Given the description of an element on the screen output the (x, y) to click on. 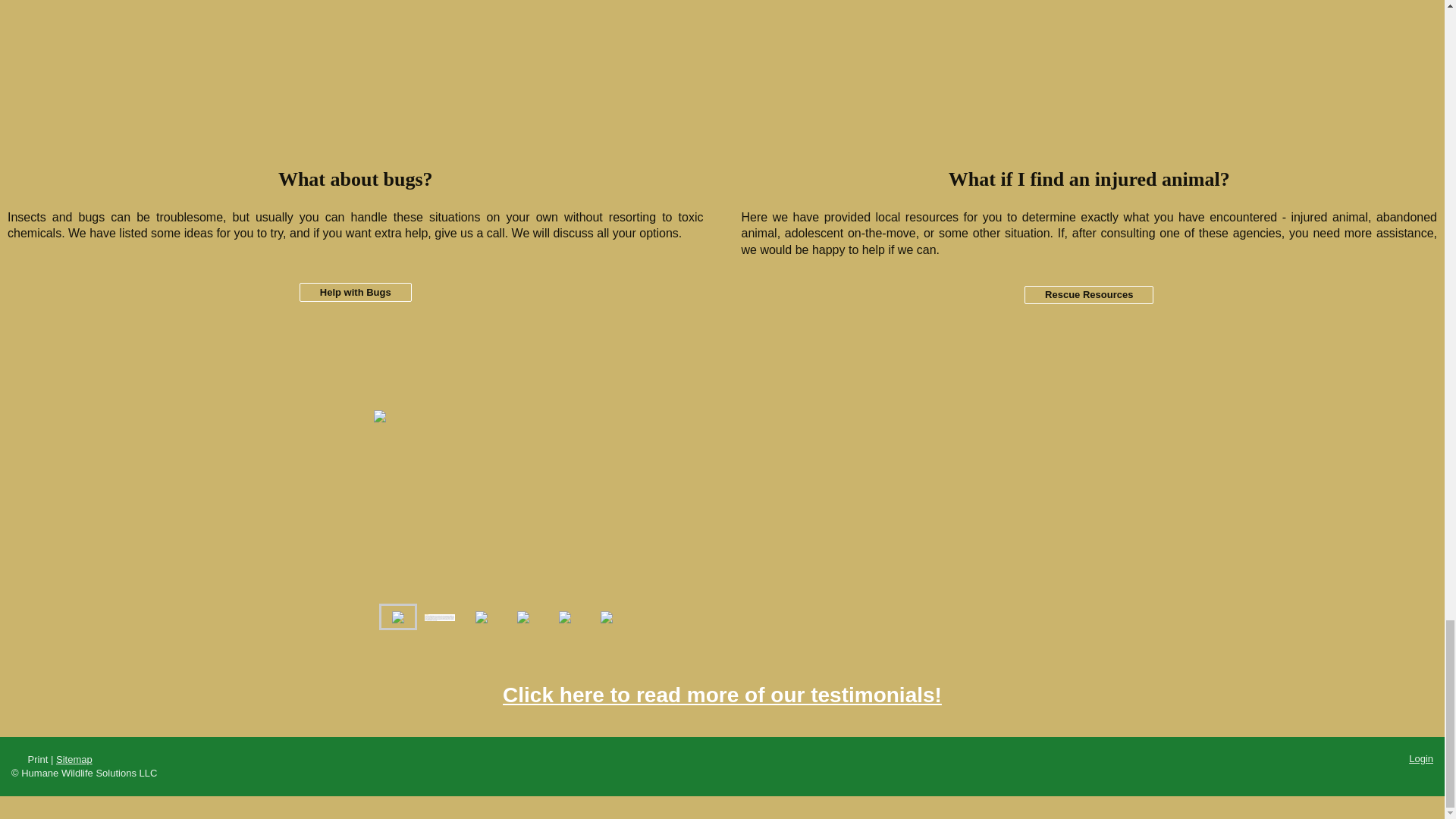
Help with Bugs (355, 292)
Rescue Resources (1089, 294)
